Given the description of an element on the screen output the (x, y) to click on. 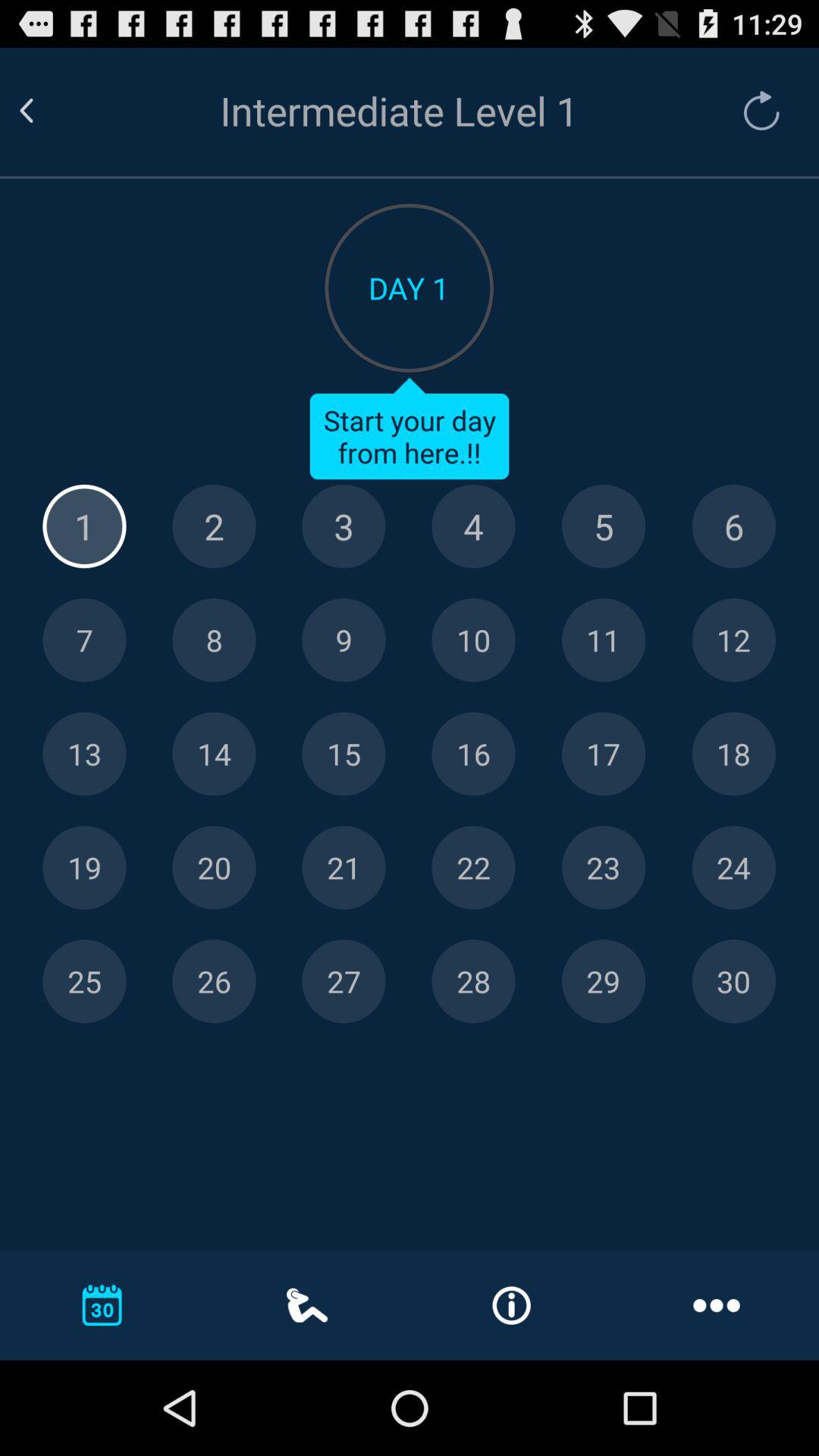
click circular arrow to refresh page (754, 110)
